Given the description of an element on the screen output the (x, y) to click on. 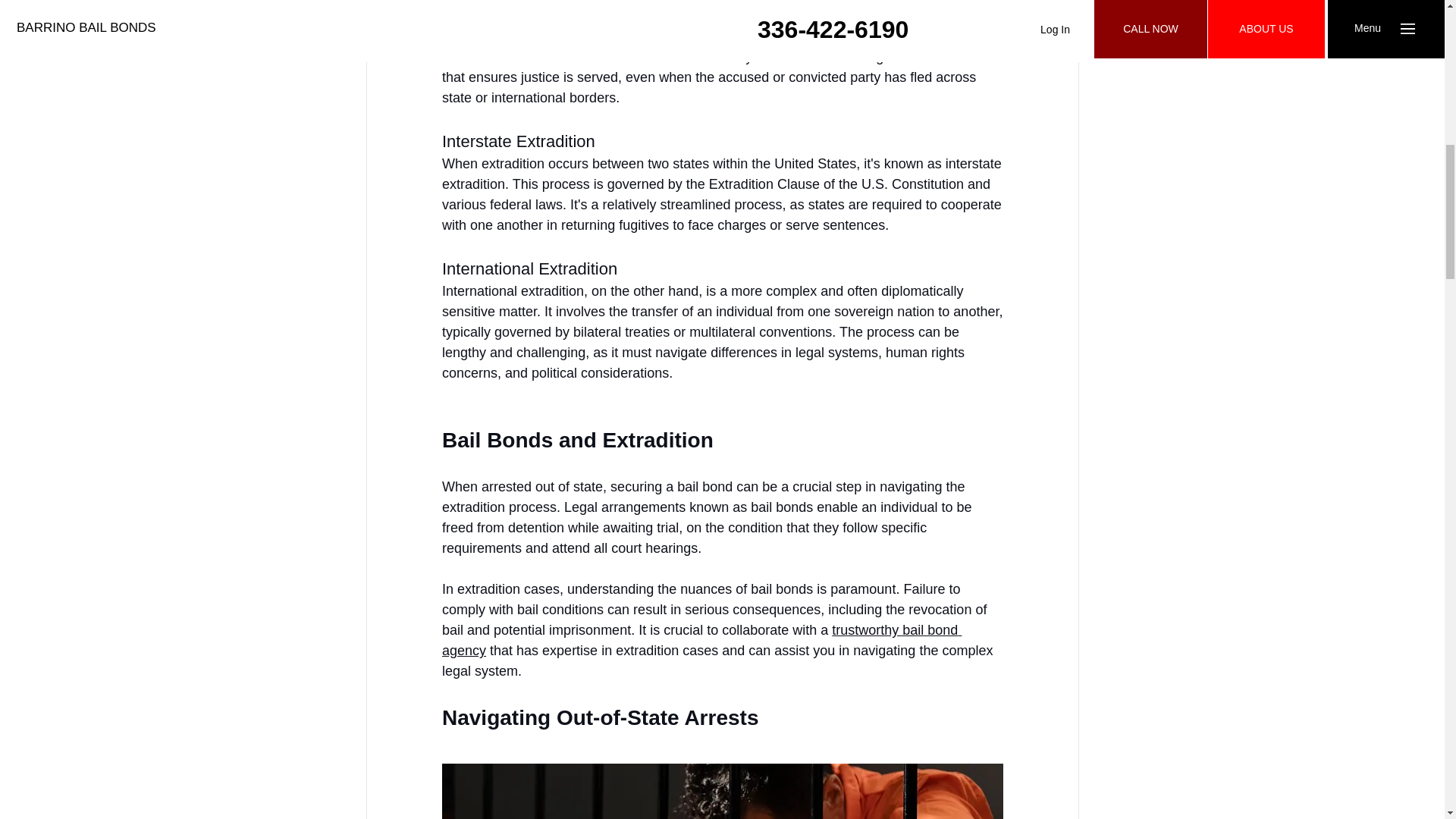
trustworthy bail bond agency (700, 640)
